Given the description of an element on the screen output the (x, y) to click on. 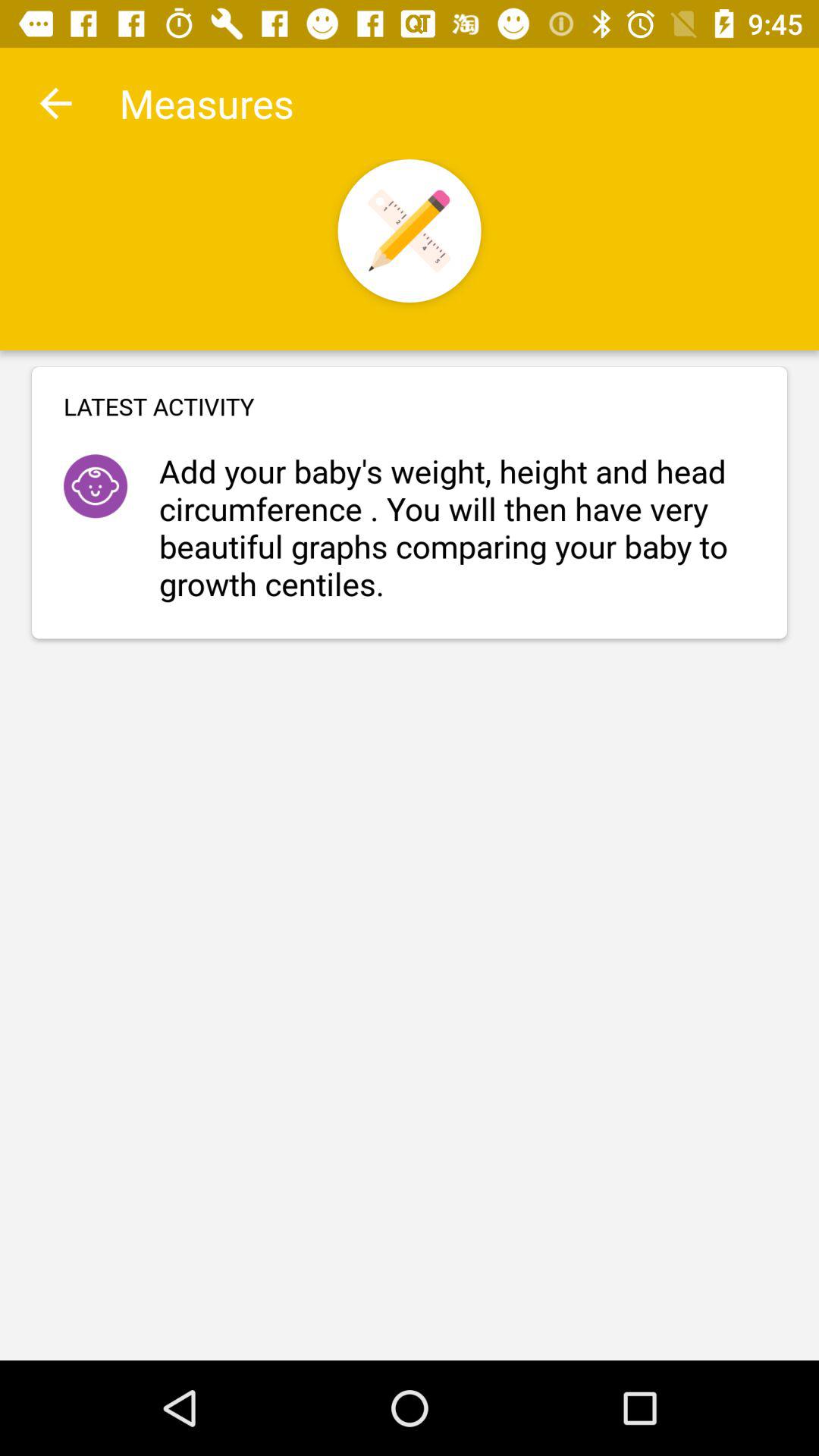
select item next to the measures (55, 103)
